Given the description of an element on the screen output the (x, y) to click on. 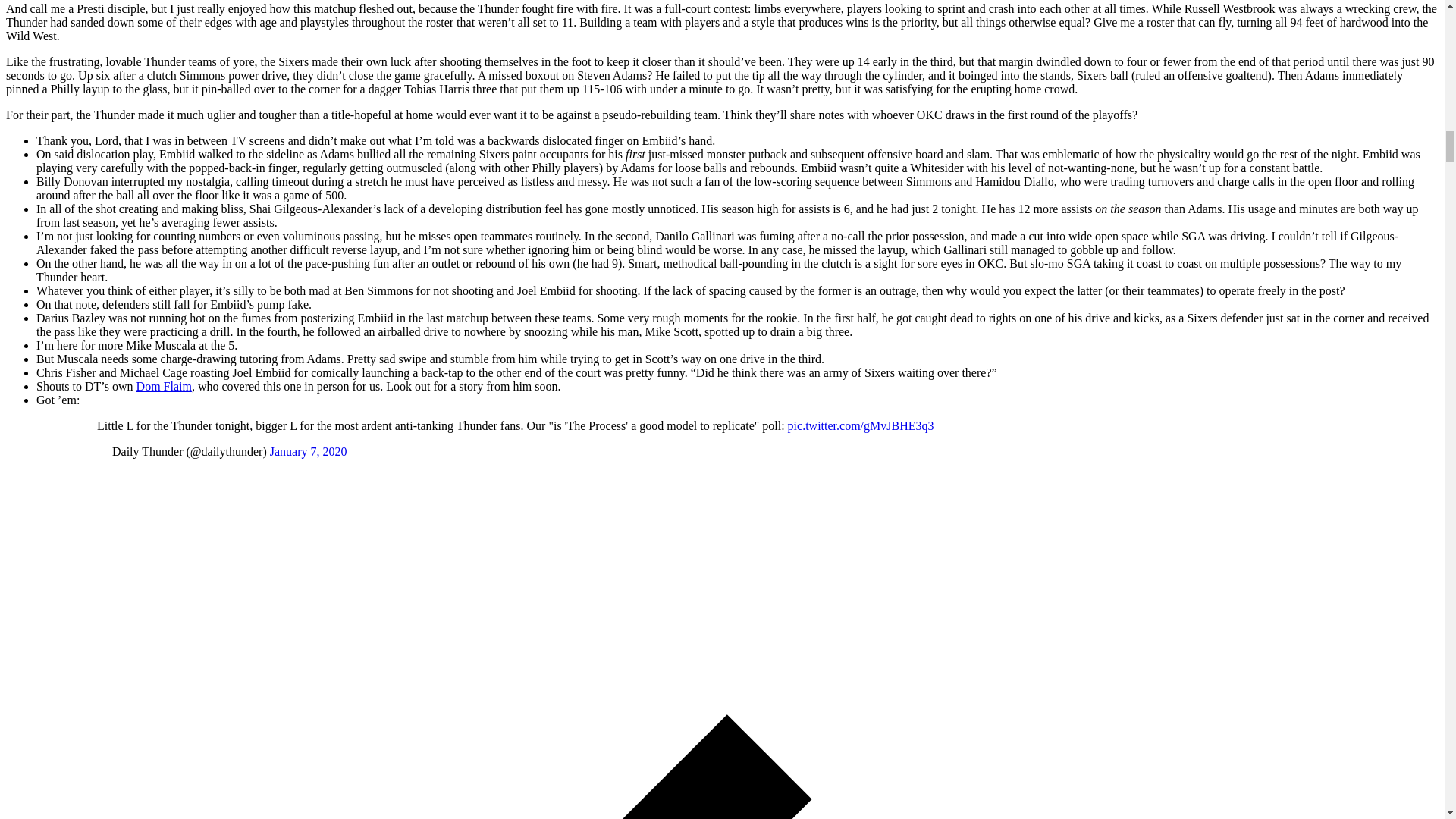
January 7, 2020 (308, 451)
Dom Flaim (164, 386)
